Given the description of an element on the screen output the (x, y) to click on. 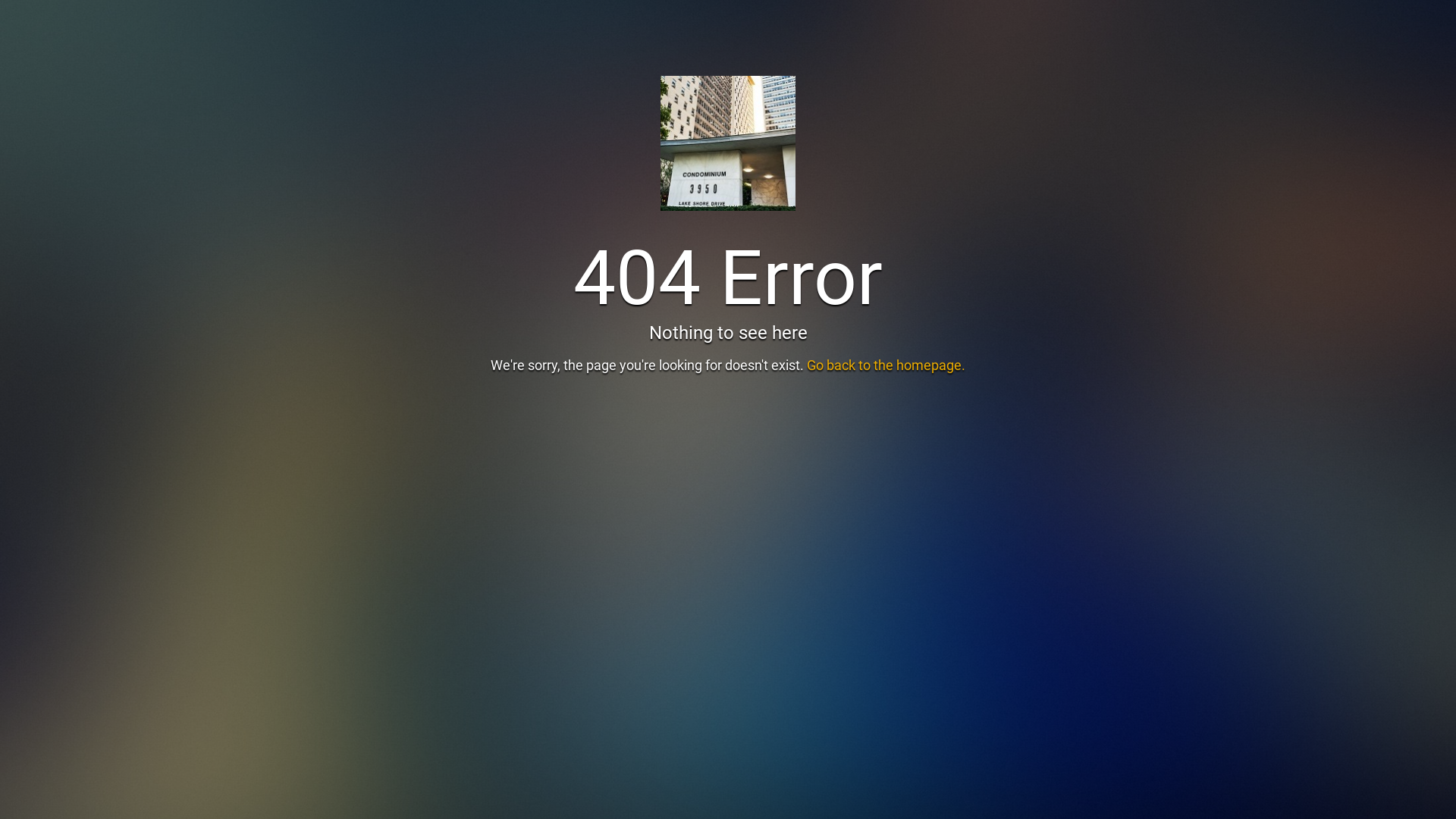
Go back to the homepage. Element type: text (885, 365)
